Given the description of an element on the screen output the (x, y) to click on. 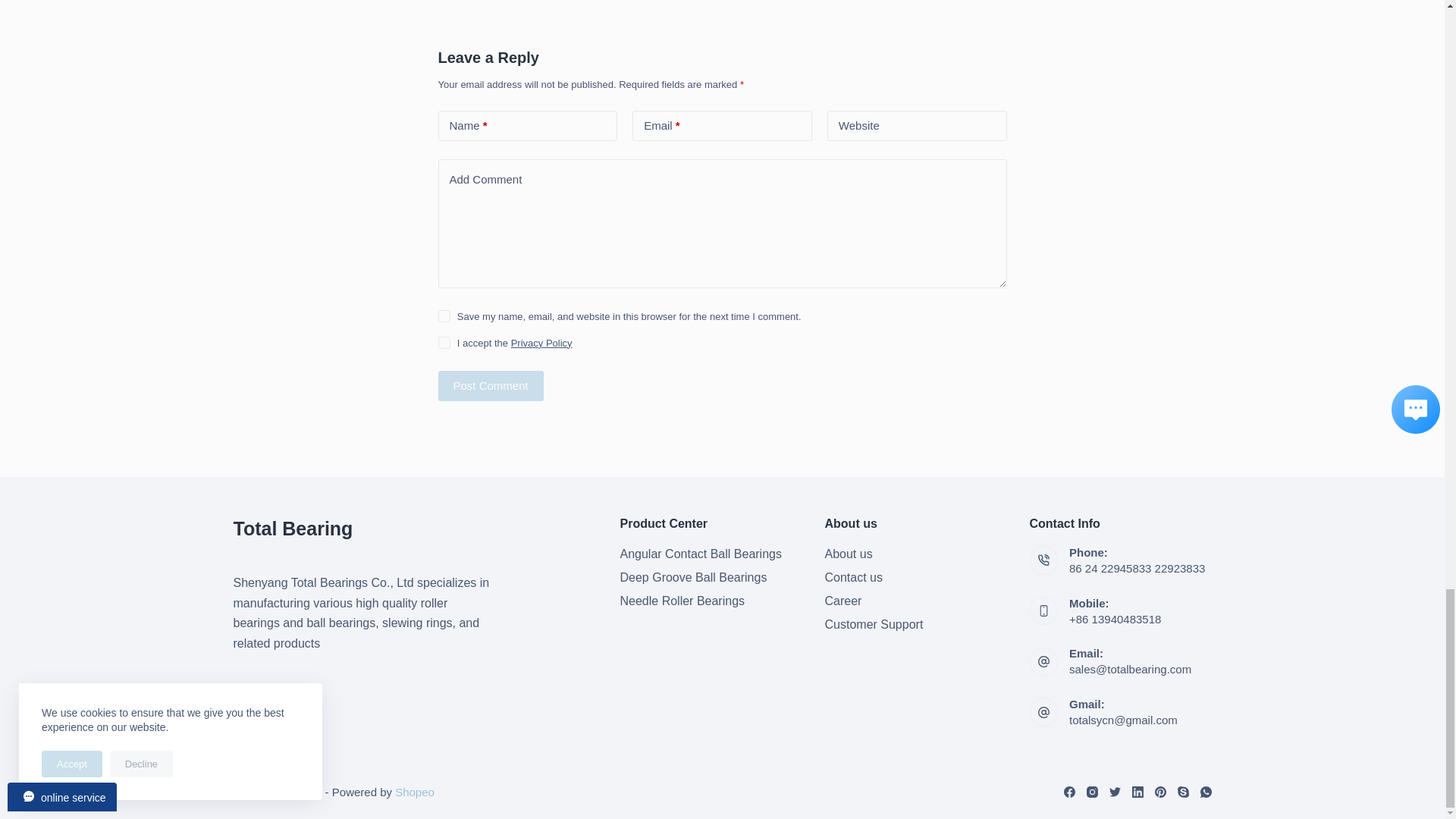
Privacy Policy (541, 342)
Post Comment (490, 386)
Deep Groove Ball Bearings (693, 576)
yes (443, 316)
Angular Contact Ball Bearings (700, 553)
Career (843, 600)
Contact us (853, 576)
About us (848, 553)
Needle Roller Bearings (682, 600)
on (443, 342)
